Given the description of an element on the screen output the (x, y) to click on. 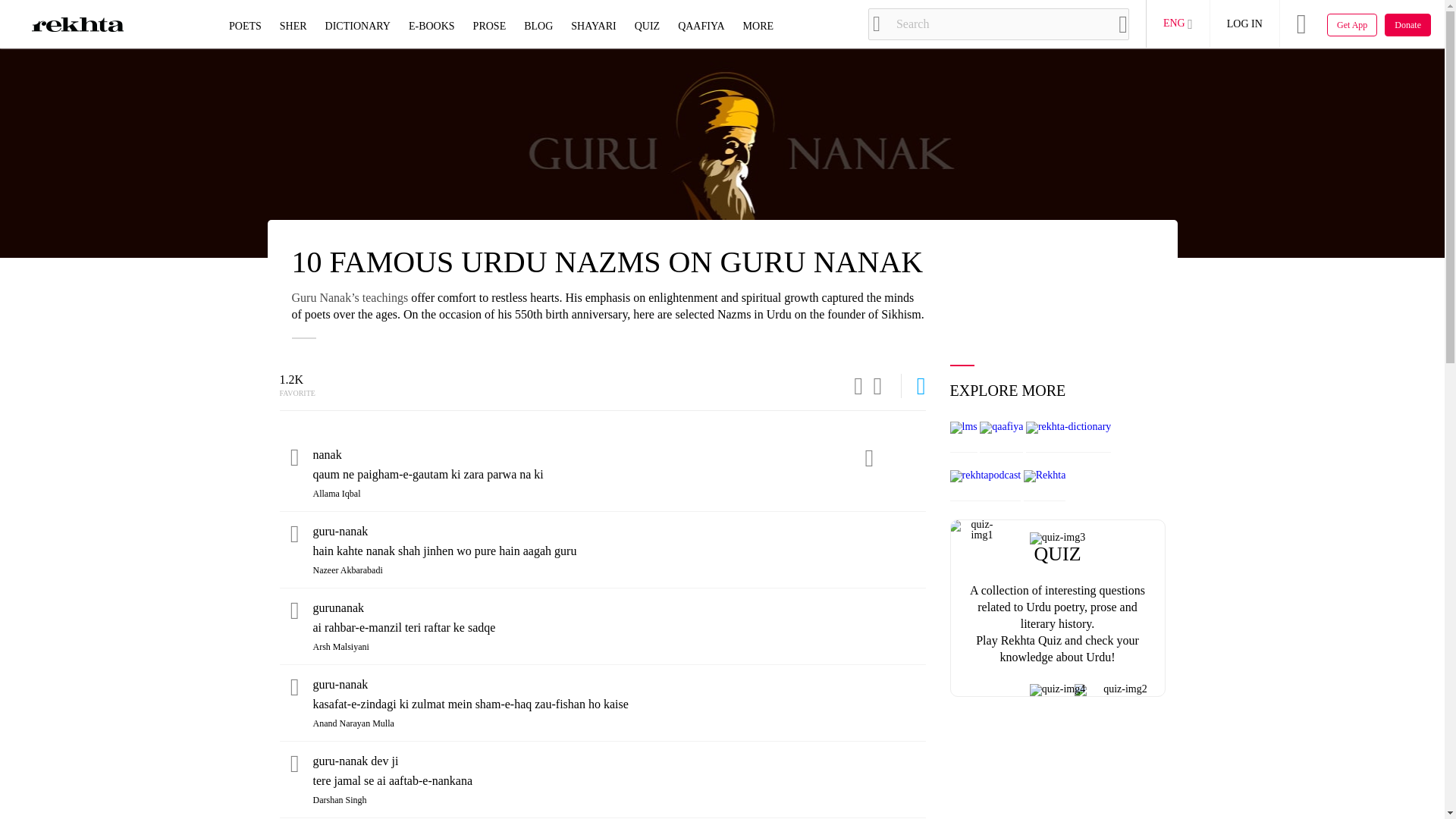
Favorites (293, 689)
guru-nanak (618, 684)
SHARE (850, 385)
Favorites (293, 612)
qaafiya (1001, 427)
rekhta-dictionary (1068, 427)
gurunanak (618, 607)
Favorites (293, 459)
rekhtapodcast (984, 476)
guru-nanak (618, 531)
rekhta-learning (962, 427)
guru-nanak dev ji (618, 761)
Favorites (876, 385)
nanak (618, 454)
Favorites (293, 766)
